Given the description of an element on the screen output the (x, y) to click on. 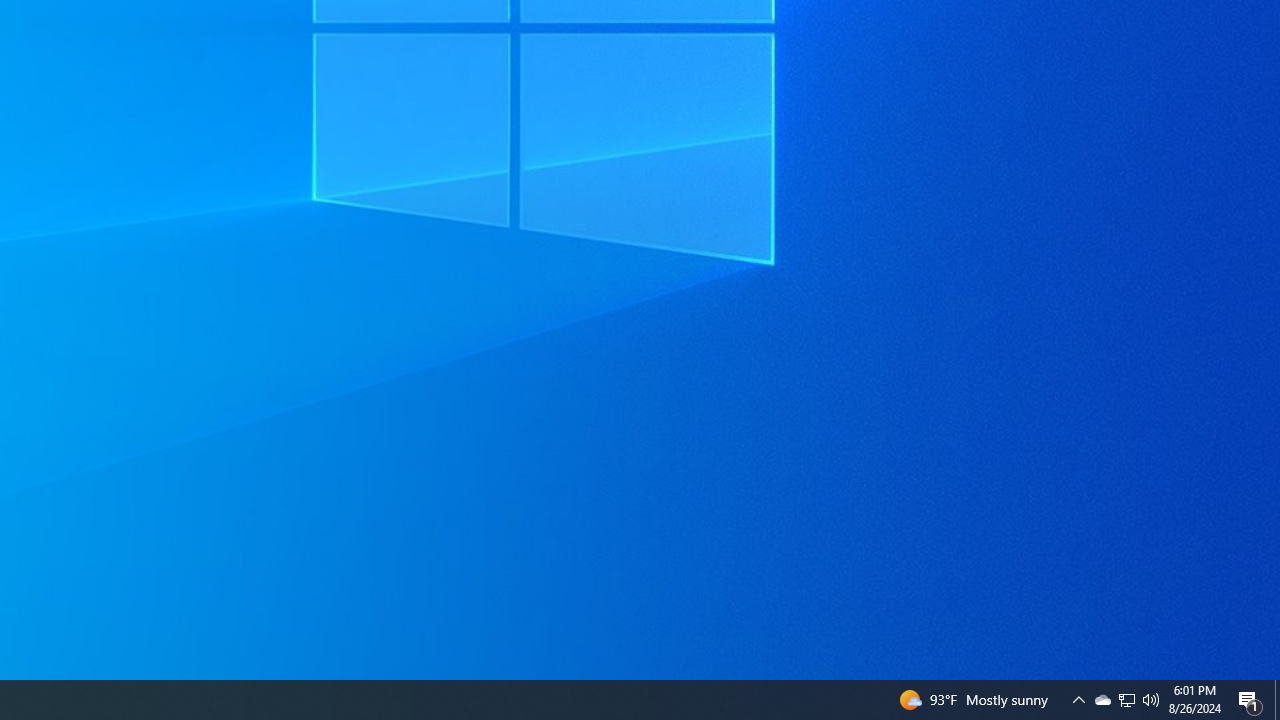
Action Center, 1 new notification (1250, 699)
